Given the description of an element on the screen output the (x, y) to click on. 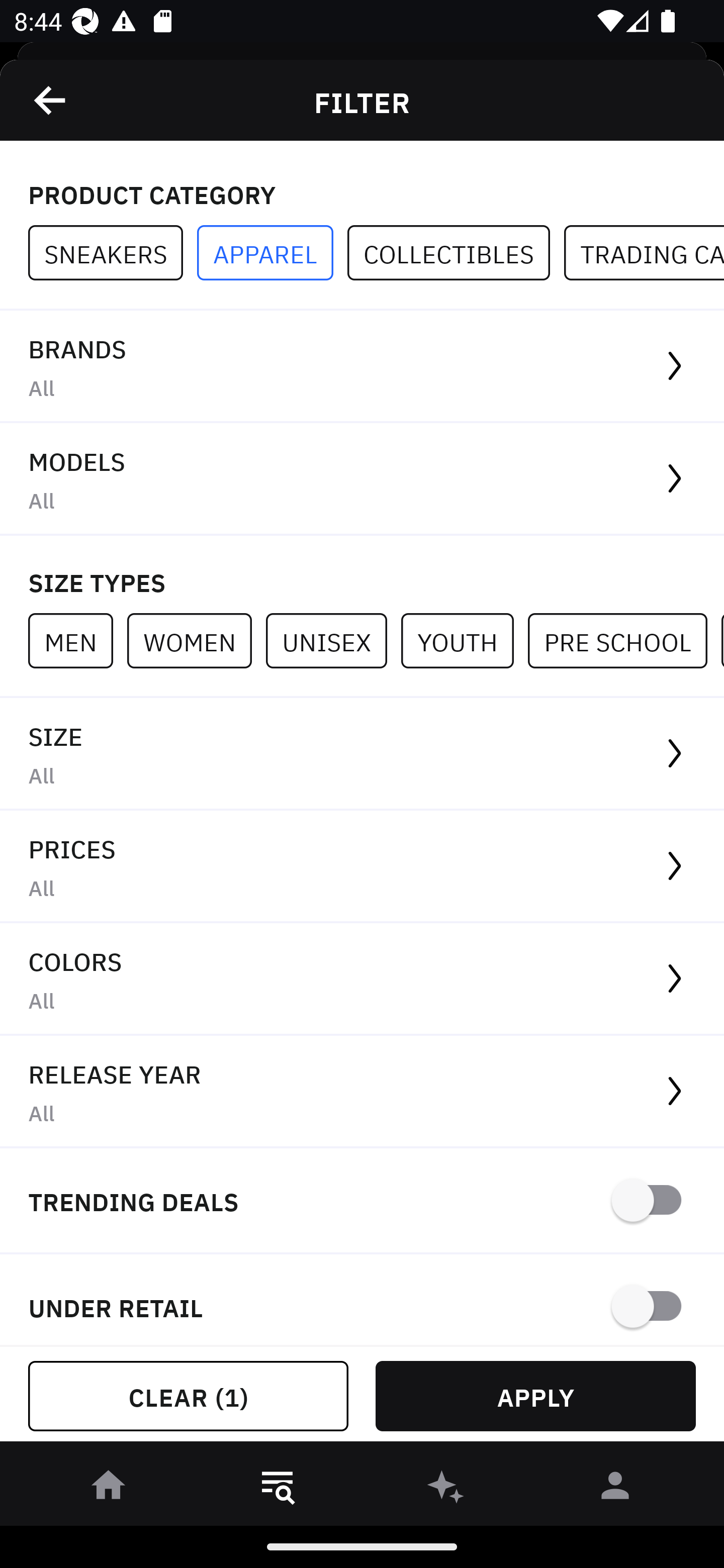
 (50, 100)
SNEAKERS (112, 252)
APPAREL (271, 252)
COLLECTIBLES (455, 252)
TRADING CARDS (643, 252)
BRANDS All (362, 366)
MODELS All (362, 479)
MEN (77, 640)
WOMEN (196, 640)
UNISEX (333, 640)
YOUTH (464, 640)
PRE SCHOOL (624, 640)
SIZE All (362, 753)
PRICES All (362, 866)
COLORS All (362, 979)
RELEASE YEAR All (362, 1091)
TRENDING DEALS (362, 1200)
UNDER RETAIL (362, 1299)
CLEAR (1) (188, 1396)
APPLY (535, 1396)
󰋜 (108, 1488)
󱎸 (277, 1488)
󰫢 (446, 1488)
󰀄 (615, 1488)
